Given the description of an element on the screen output the (x, y) to click on. 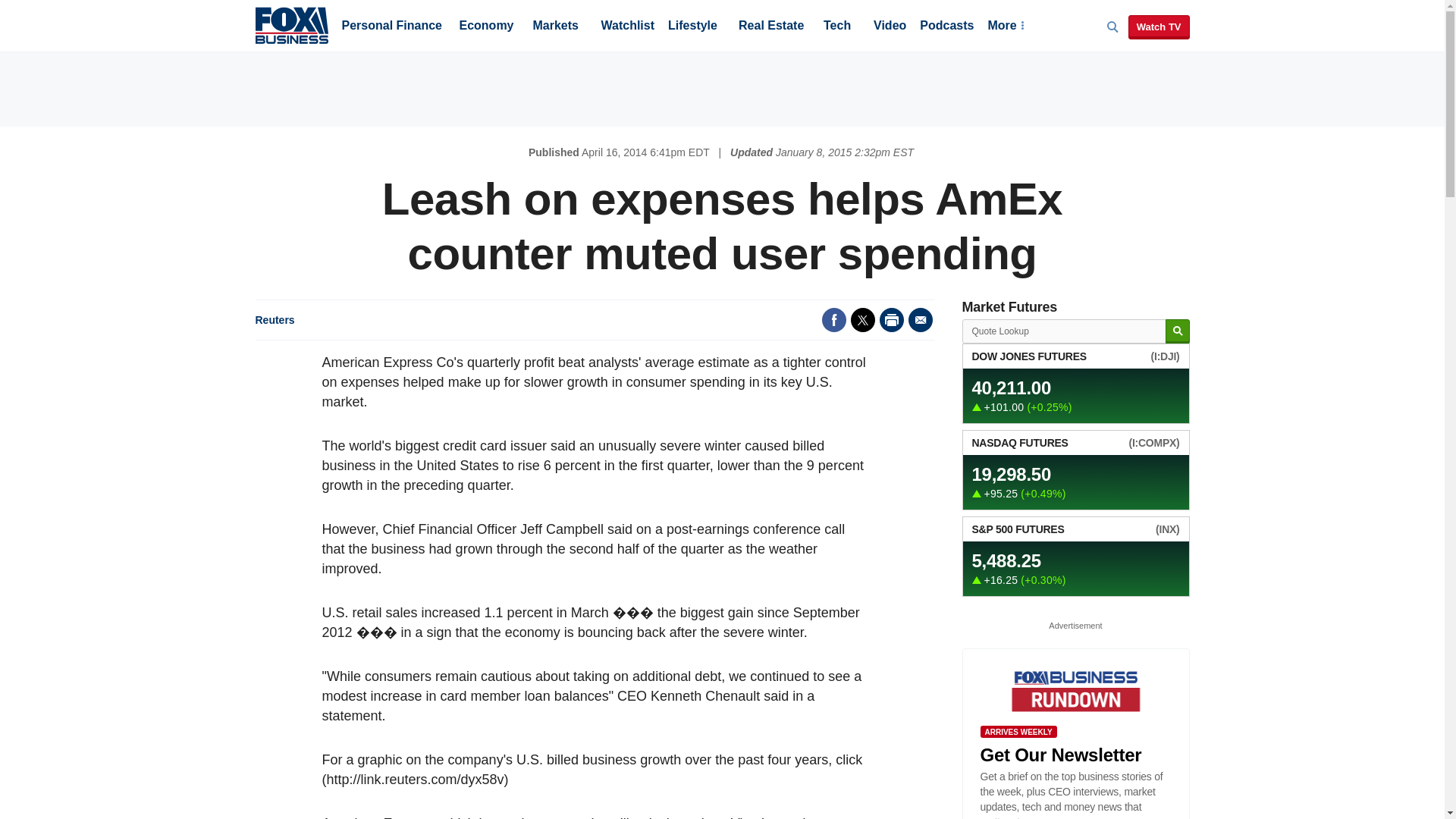
Podcasts (947, 27)
Search (1176, 331)
Tech (837, 27)
Search (1176, 331)
Fox Business (290, 24)
Markets (555, 27)
More (1005, 27)
Economy (486, 27)
Lifestyle (692, 27)
Watchlist (626, 27)
Video (889, 27)
Watch TV (1158, 27)
Real Estate (770, 27)
Personal Finance (391, 27)
